Given the description of an element on the screen output the (x, y) to click on. 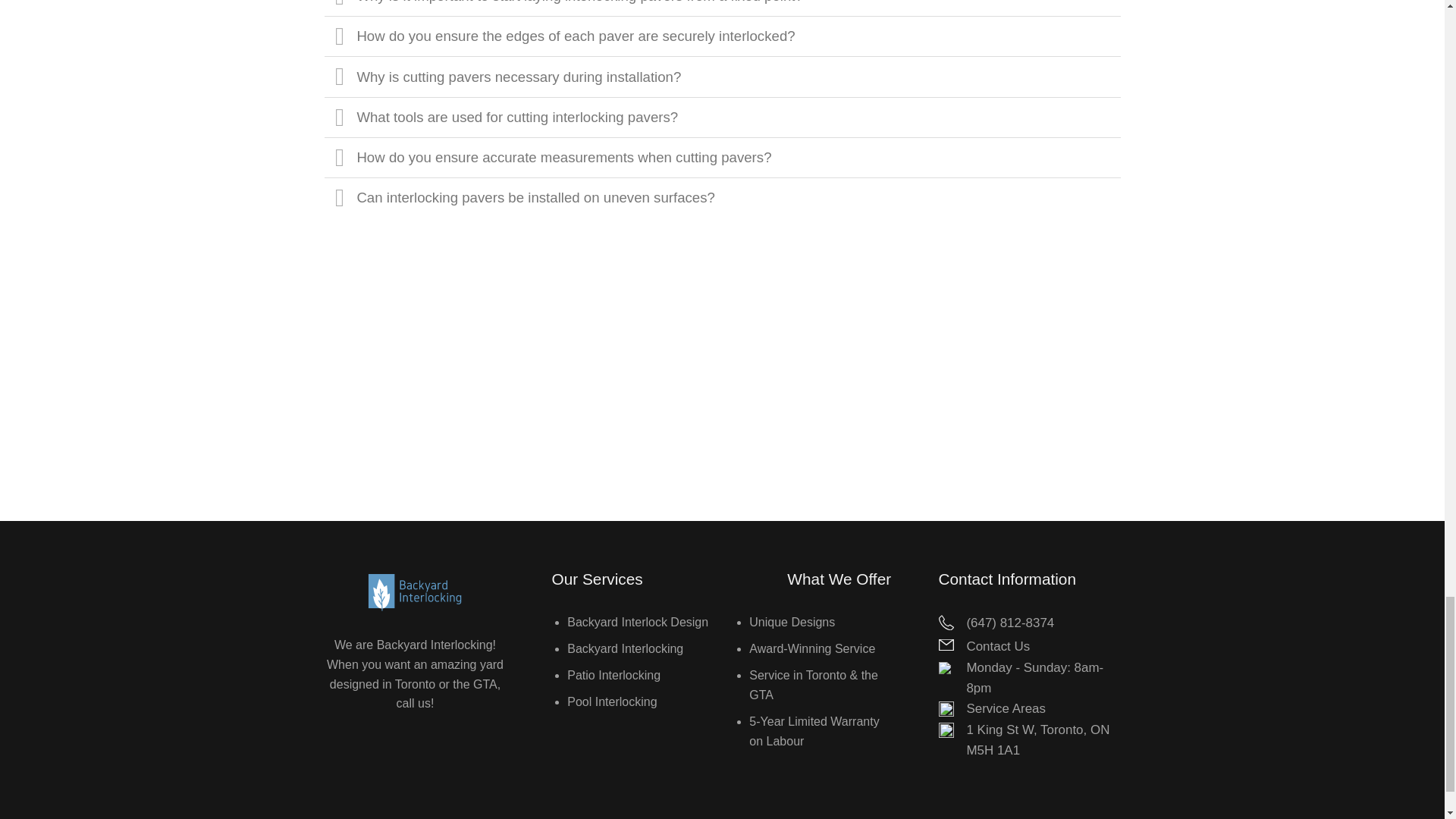
Patio Interlocking (614, 675)
What tools are used for cutting interlocking pavers? (722, 117)
Can interlocking pavers be installed on uneven surfaces? (722, 197)
Pool Interlocking (611, 701)
How do you ensure accurate measurements when cutting pavers? (722, 157)
Why is cutting pavers necessary during installation? (722, 76)
